Given the description of an element on the screen output the (x, y) to click on. 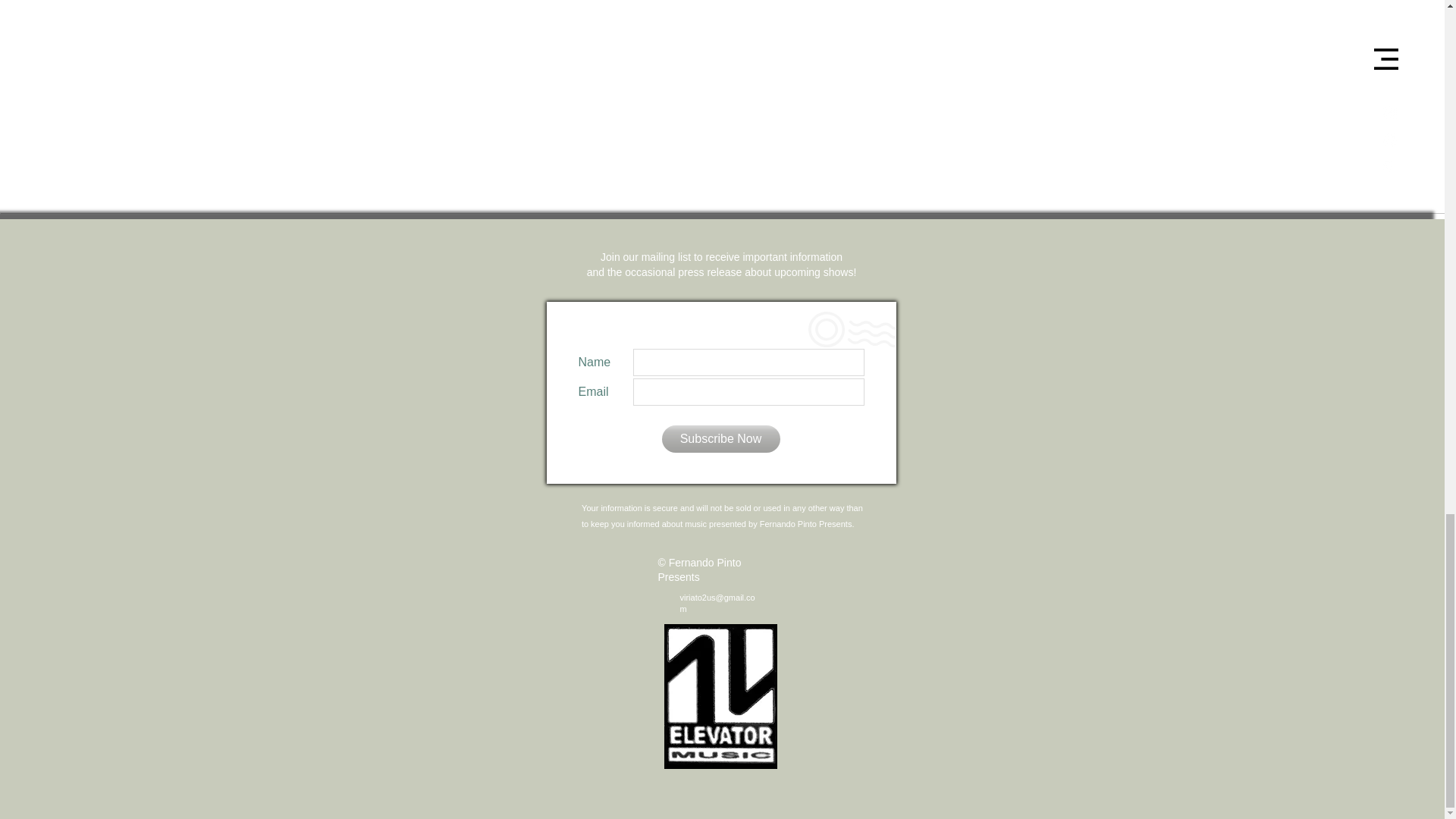
Subscribe Now (719, 438)
